Given the description of an element on the screen output the (x, y) to click on. 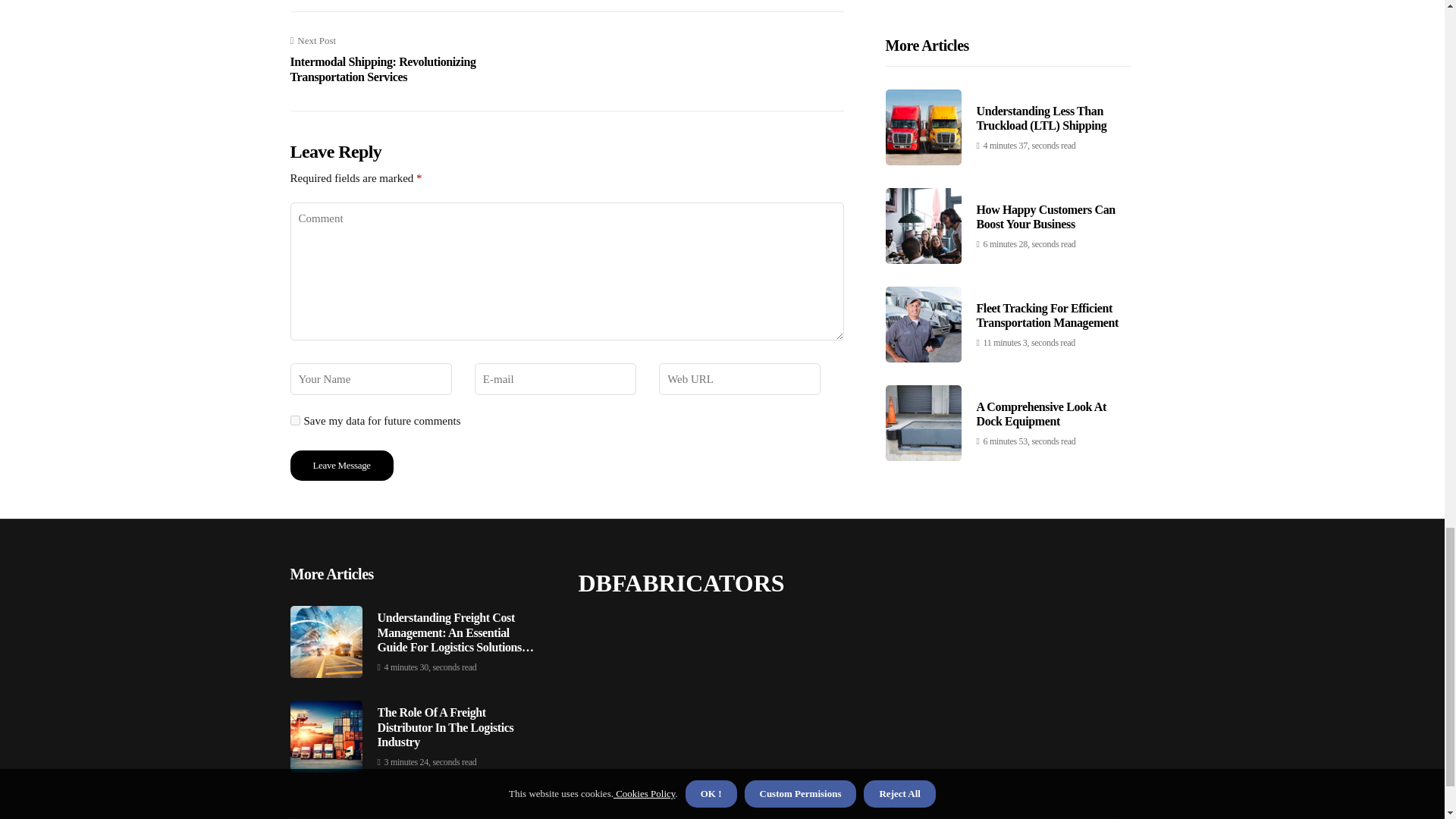
yes (294, 420)
Leave Message (341, 465)
